Given the description of an element on the screen output the (x, y) to click on. 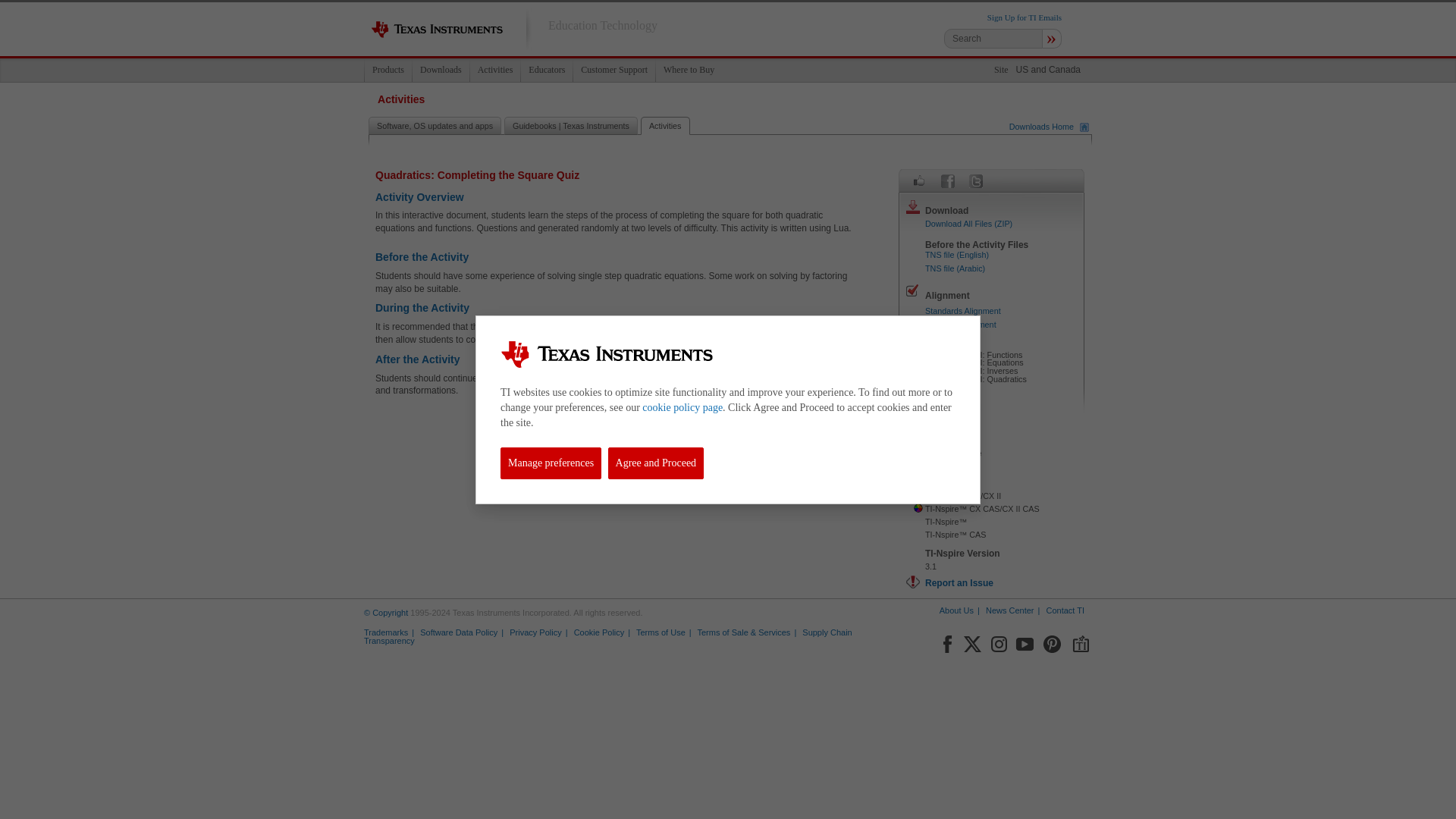
YouTube (1025, 640)
Sign Up for TI Emails (1024, 17)
Downloads (440, 69)
Pinterest (1052, 640)
Facebook (947, 180)
Twitter (972, 640)
Recommend Activity (919, 180)
Educators (545, 69)
Instagram (998, 640)
Twitter (975, 180)
Facebook (946, 640)
Products (388, 69)
Activities (494, 69)
